Given the description of an element on the screen output the (x, y) to click on. 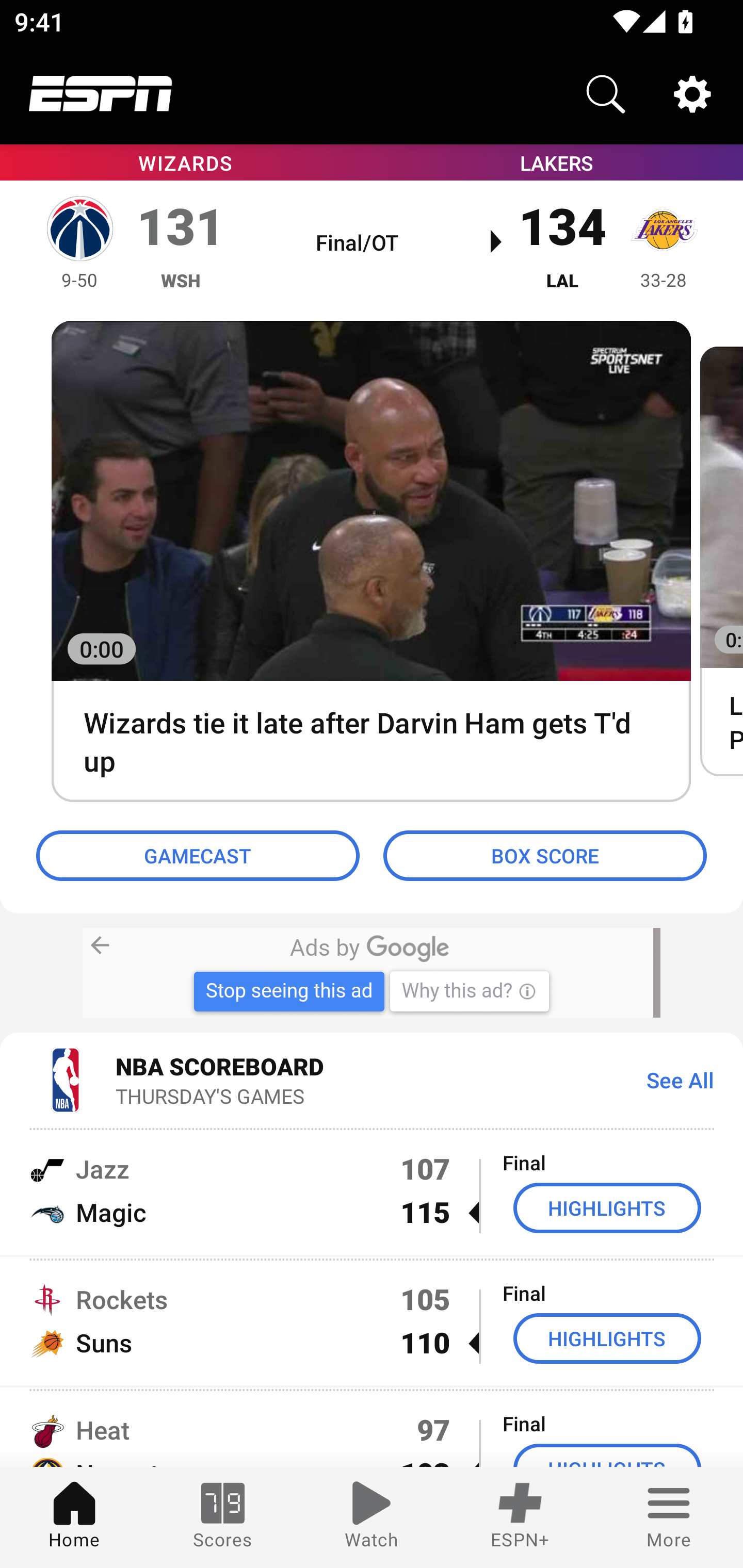
Search (605, 93)
Settings (692, 93)
GAMECAST (197, 856)
BOX SCORE (544, 856)
NBA SCOREBOARD THURSDAY'S GAMES See All (371, 1079)
Jazz 107 Final Magic 115  HIGHLIGHTS (371, 1189)
HIGHLIGHTS (607, 1208)
Rockets 105 Final Suns 110  HIGHLIGHTS (371, 1321)
HIGHLIGHTS (607, 1338)
Heat 97 Final Nuggets 103  HIGHLIGHTS (371, 1427)
Scores (222, 1517)
Watch (371, 1517)
ESPN+ (519, 1517)
More (668, 1517)
